Given the description of an element on the screen output the (x, y) to click on. 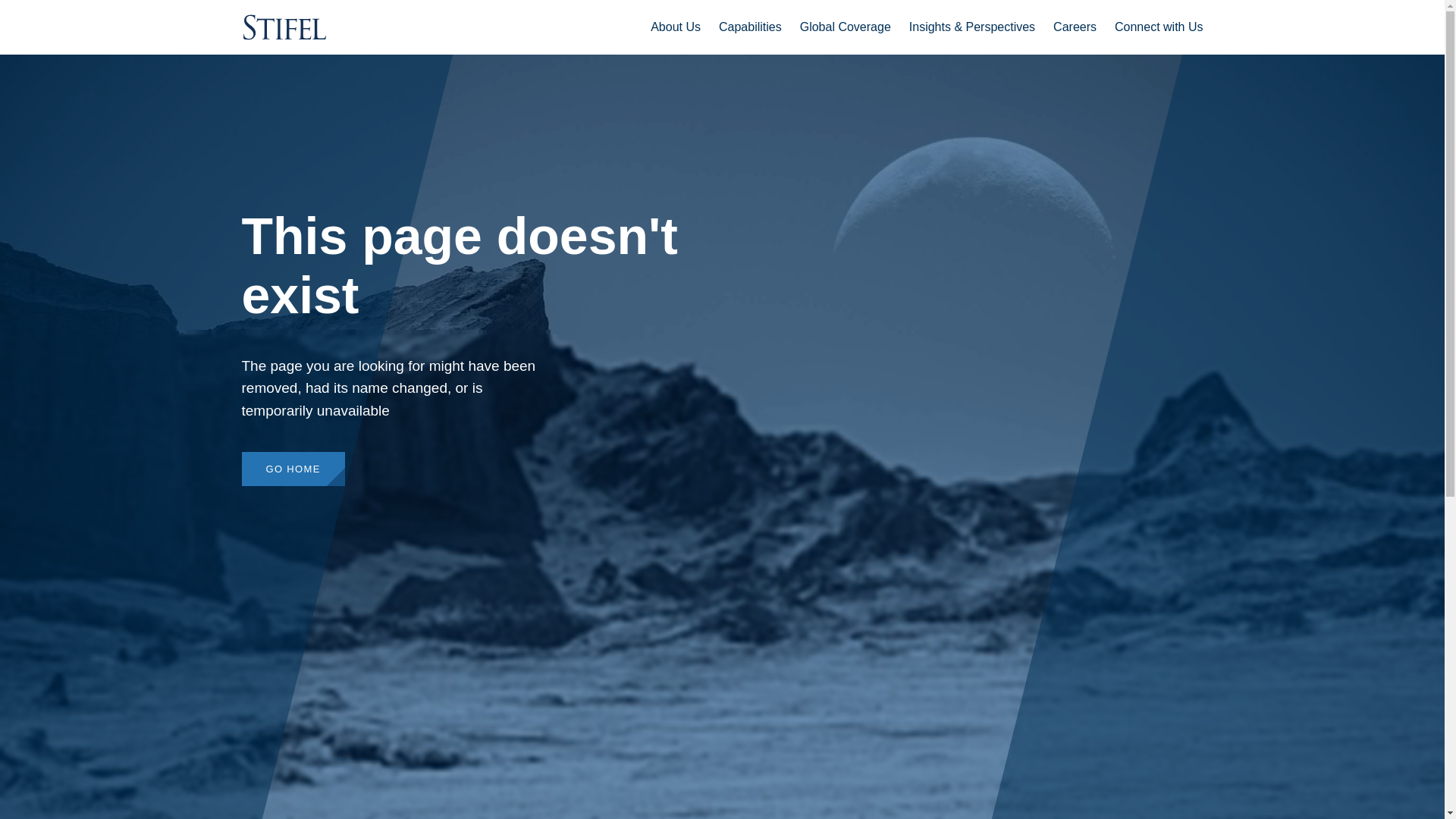
Global Coverage (845, 27)
Capabilities (750, 27)
About Us (675, 27)
Careers (1074, 27)
GO HOME (292, 469)
Connect with Us (1159, 27)
